Given the description of an element on the screen output the (x, y) to click on. 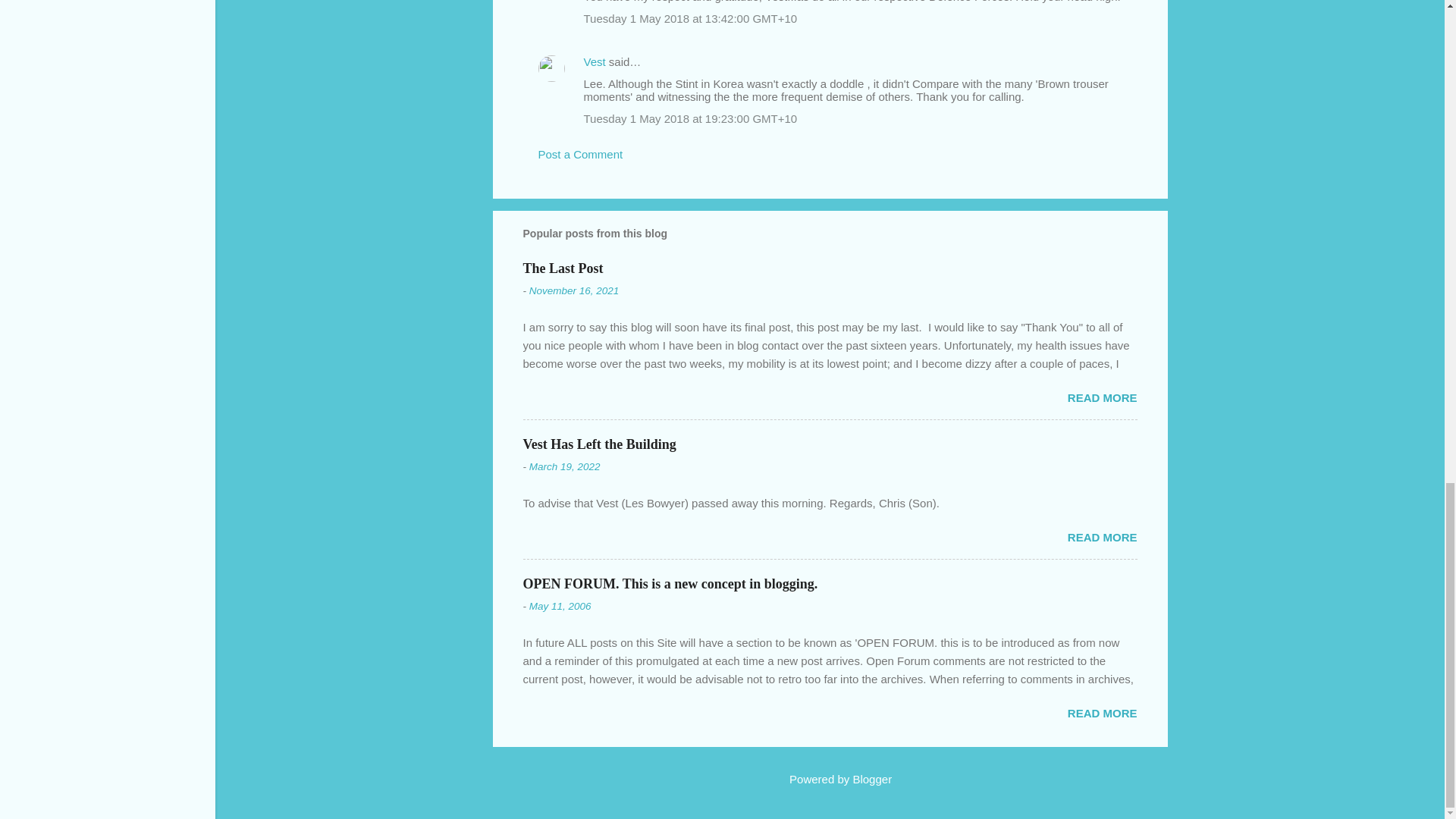
Vest Has Left the Building (599, 444)
May 11, 2006 (560, 605)
Vest (594, 61)
READ MORE (1102, 397)
November 16, 2021 (574, 290)
READ MORE (1102, 712)
READ MORE (1102, 536)
OPEN FORUM. This is a new concept in blogging. (670, 583)
March 19, 2022 (564, 466)
Post a Comment (580, 154)
The Last Post (563, 268)
Powered by Blogger (829, 779)
